Given the description of an element on the screen output the (x, y) to click on. 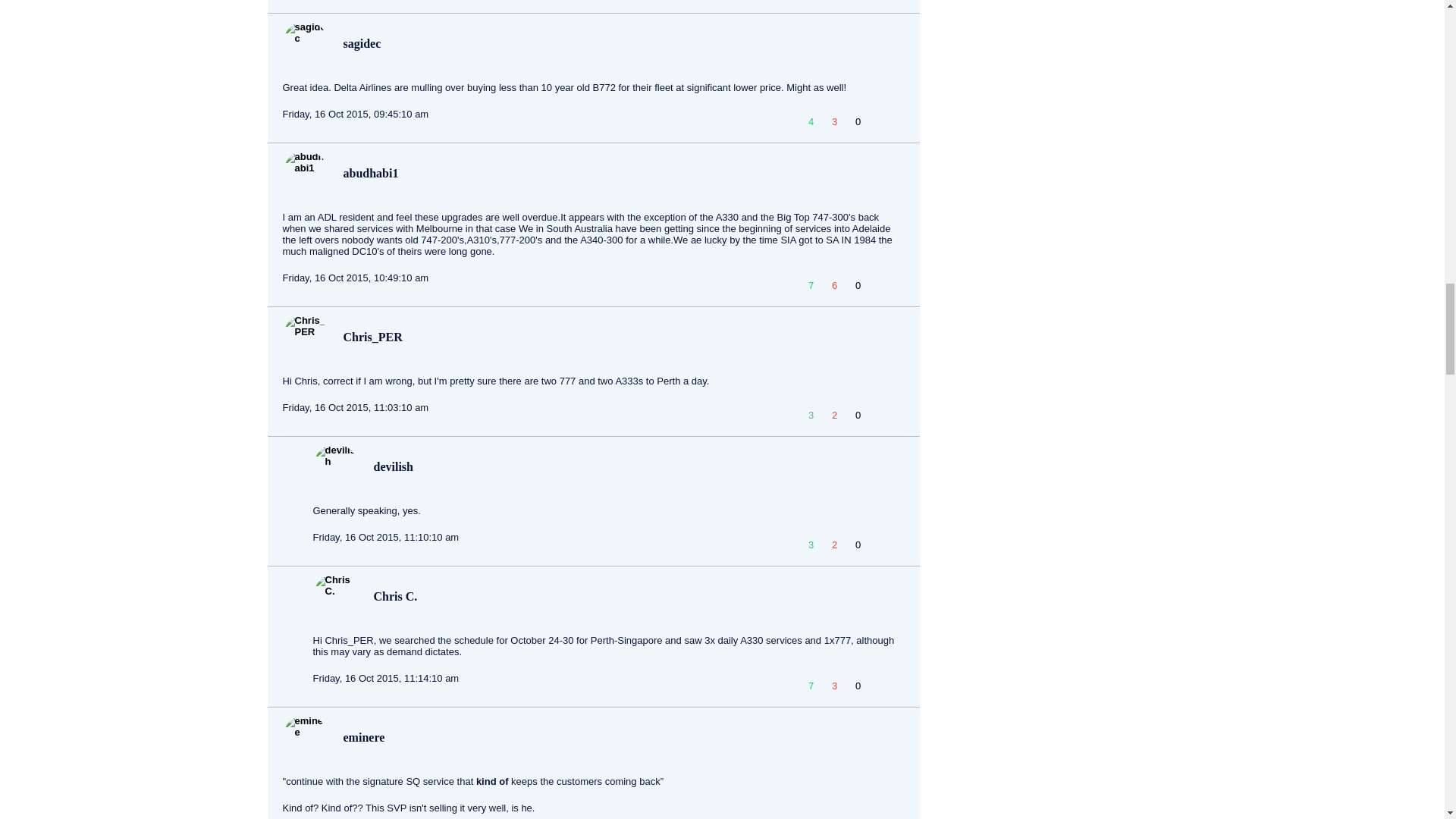
Like (807, 2)
Dislike (834, 2)
Thank Doubleplatinum for this helpful post (857, 2)
